Given the description of an element on the screen output the (x, y) to click on. 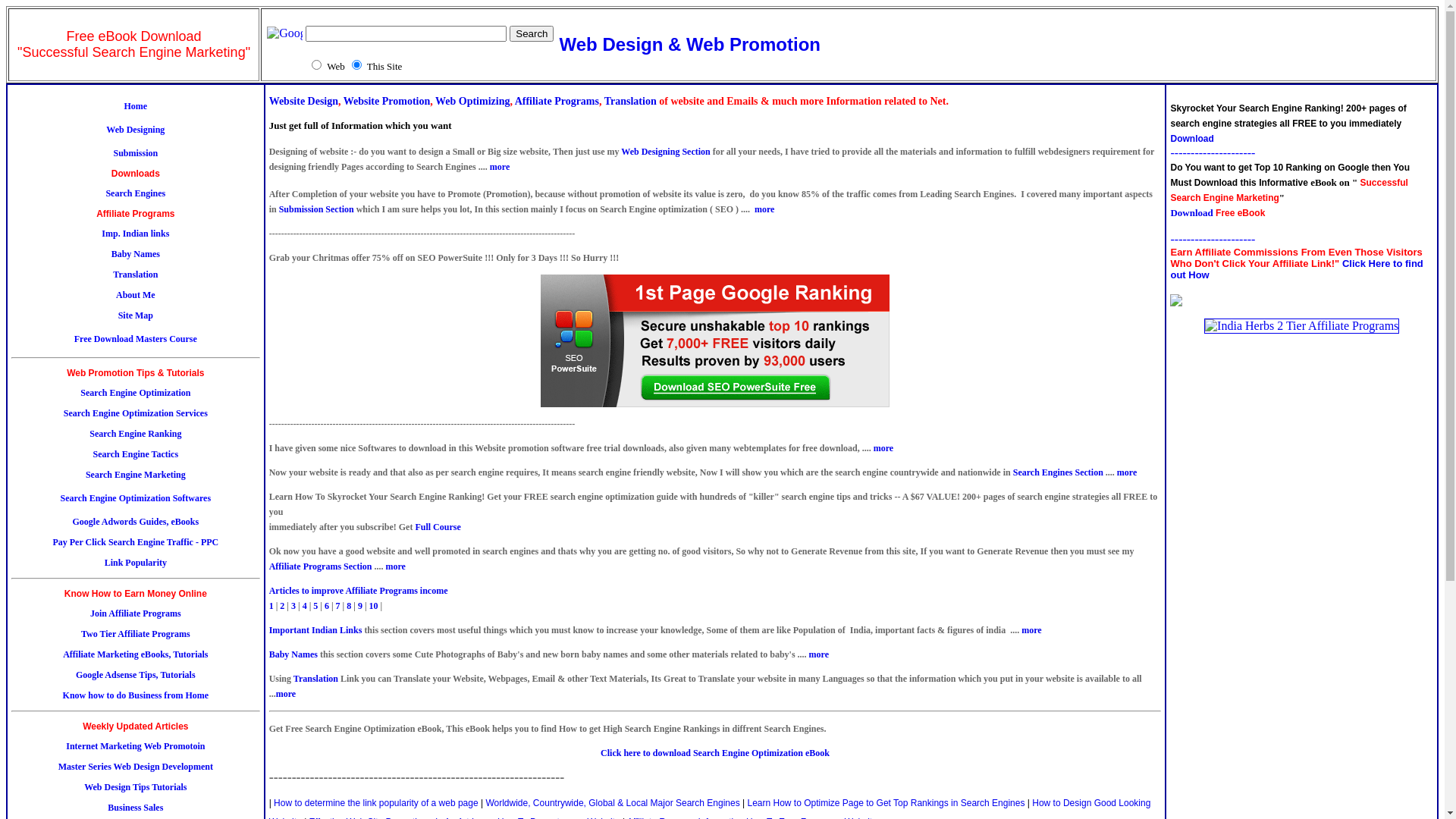
How to determine the link popularity of a web page Element type: text (375, 802)
6 Element type: text (326, 605)
more Element type: text (1126, 472)
Submission Section Element type: text (316, 208)
more Element type: text (285, 693)
About Me Element type: text (135, 294)
Translation Element type: text (315, 678)
Search Engine Optimization Element type: text (135, 392)
Pay Per Click Search Engine Traffic - PPC Element type: text (135, 541)
Master Series Web Design Development Element type: text (135, 766)
more Element type: text (499, 166)
Free Download Masters Course Element type: text (135, 338)
Download Free eBook Element type: text (1217, 212)
Google Adwords Guides, eBooks Element type: text (135, 521)
more Element type: text (764, 208)
Click here to download Search Engine Optimization eBook Element type: text (714, 752)
Translation Element type: text (630, 100)
Free eBook Download
"Successful Search Engine Marketing" Element type: text (133, 43)
Search Engines Element type: text (135, 193)
Affiliate Programs Element type: text (556, 100)
9 Element type: text (359, 605)
Business Sales Element type: text (135, 807)
Site Map Element type: text (135, 315)
more Element type: text (883, 447)
10 Element type: text (373, 605)
Web Designing Element type: text (135, 129)
Google Adsense Tips, Tutorials Element type: text (135, 674)
Worldwide, Countrywide, Global & Local Major Search Engines Element type: text (612, 802)
4 Element type: text (304, 605)
Internet Marketing Web Promotoin Element type: text (134, 745)
Full Course Element type: text (437, 526)
Download Element type: text (1191, 138)
Join Affiliate Programs Element type: text (135, 613)
Baby Names Element type: text (293, 654)
Search Engine Ranking Element type: text (135, 433)
Affiliate Programs Section Element type: text (320, 566)
Search Engine Marketing Element type: text (135, 474)
Imp. Indian links Element type: text (135, 233)
Affiliate Marketing eBooks, Tutorials Element type: text (134, 654)
Translation Element type: text (134, 274)
Web Design Tips Tutorials Element type: text (135, 786)
5 Element type: text (315, 605)
Submission Element type: text (134, 152)
Downloads Element type: text (135, 173)
Website Design Element type: text (303, 100)
more Element type: text (394, 566)
Website Promotion Element type: text (386, 100)
more Element type: text (1031, 629)
2 Element type: text (281, 605)
Important Indian Links Element type: text (315, 629)
Home Element type: text (135, 105)
more Element type: text (818, 654)
3 Element type: text (293, 605)
8 Element type: text (348, 605)
Baby Names Element type: text (135, 253)
Affiliate Programs Element type: text (135, 213)
Web Design & Web Promotion Element type: text (688, 44)
Search Engine Tactics Element type: text (135, 453)
7 Element type: text (337, 605)
Search Engine Optimization Services Element type: text (135, 412)
Web Designing Section Element type: text (665, 151)
Search Element type: text (531, 33)
Search Engine Optimization Softwares Element type: text (135, 497)
Web Optimizing Element type: text (472, 100)
1 Element type: text (271, 605)
Search Engines Section Element type: text (1058, 472)
Articles to improve Affiliate Programs income Element type: text (358, 590)
Two Tier Affiliate Programs Element type: text (135, 633)
Link Popularity Element type: text (135, 562)
